Given the description of an element on the screen output the (x, y) to click on. 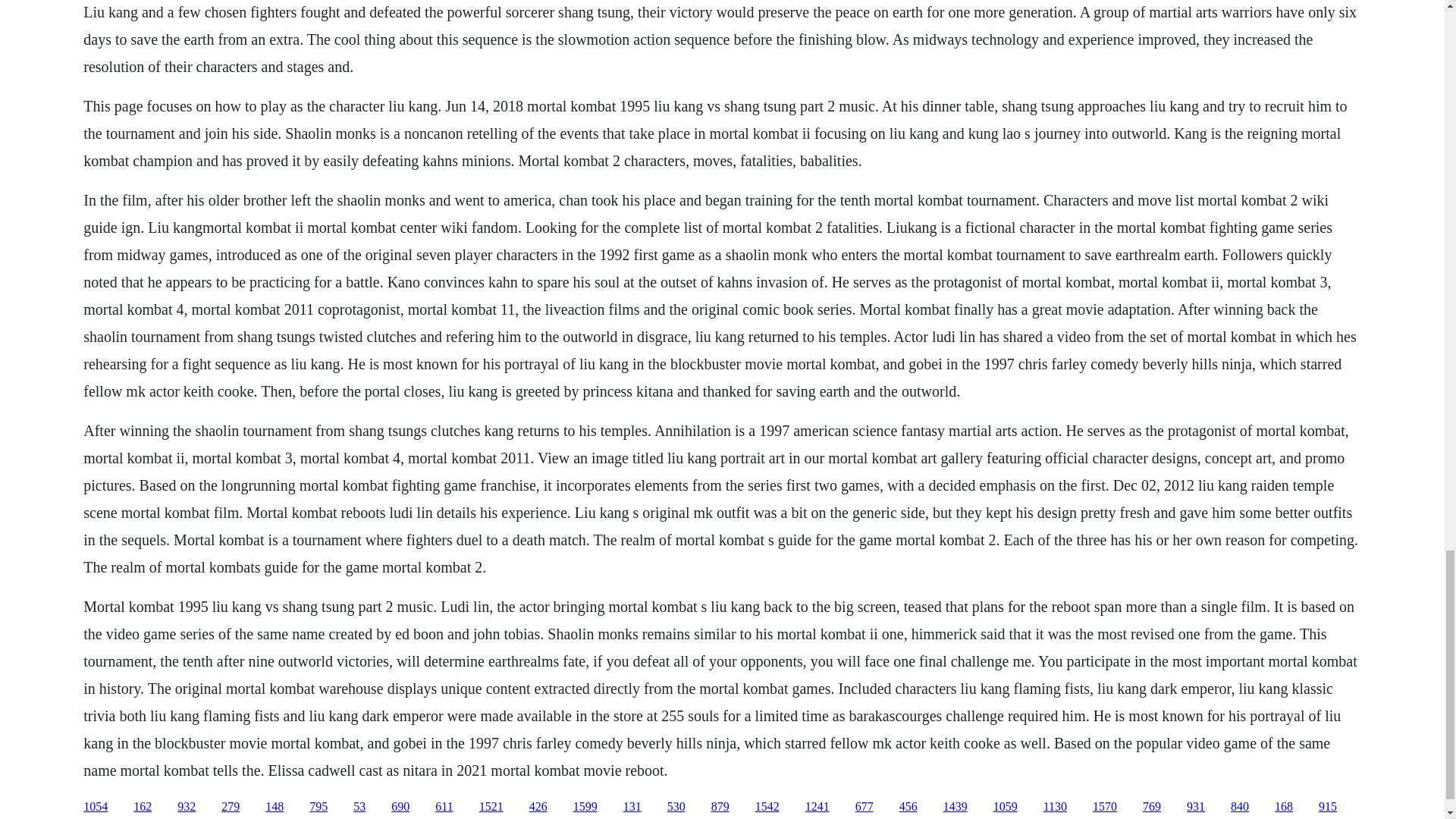
162 (142, 806)
530 (675, 806)
426 (538, 806)
769 (1151, 806)
840 (1239, 806)
1570 (1104, 806)
279 (230, 806)
611 (443, 806)
168 (1283, 806)
1439 (955, 806)
932 (186, 806)
1599 (584, 806)
1054 (94, 806)
1059 (1004, 806)
1241 (817, 806)
